Given the description of an element on the screen output the (x, y) to click on. 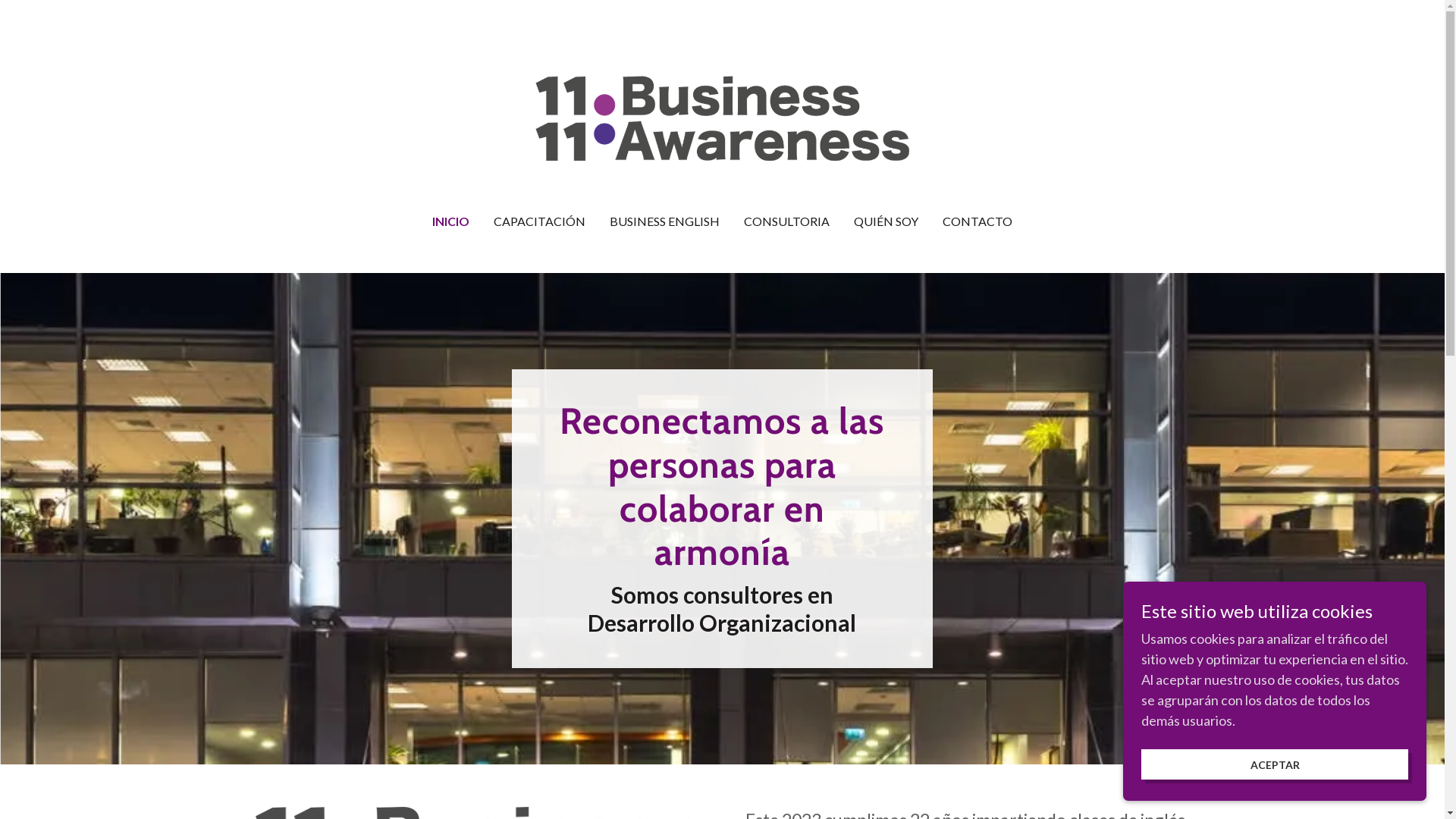
INICIO Element type: text (450, 221)
CONSULTORIA Element type: text (786, 221)
11:11 Business Awareness Element type: hover (722, 116)
CONTACTO Element type: text (977, 221)
ACEPTAR Element type: text (1274, 764)
BUSINESS ENGLISH Element type: text (664, 221)
